Given the description of an element on the screen output the (x, y) to click on. 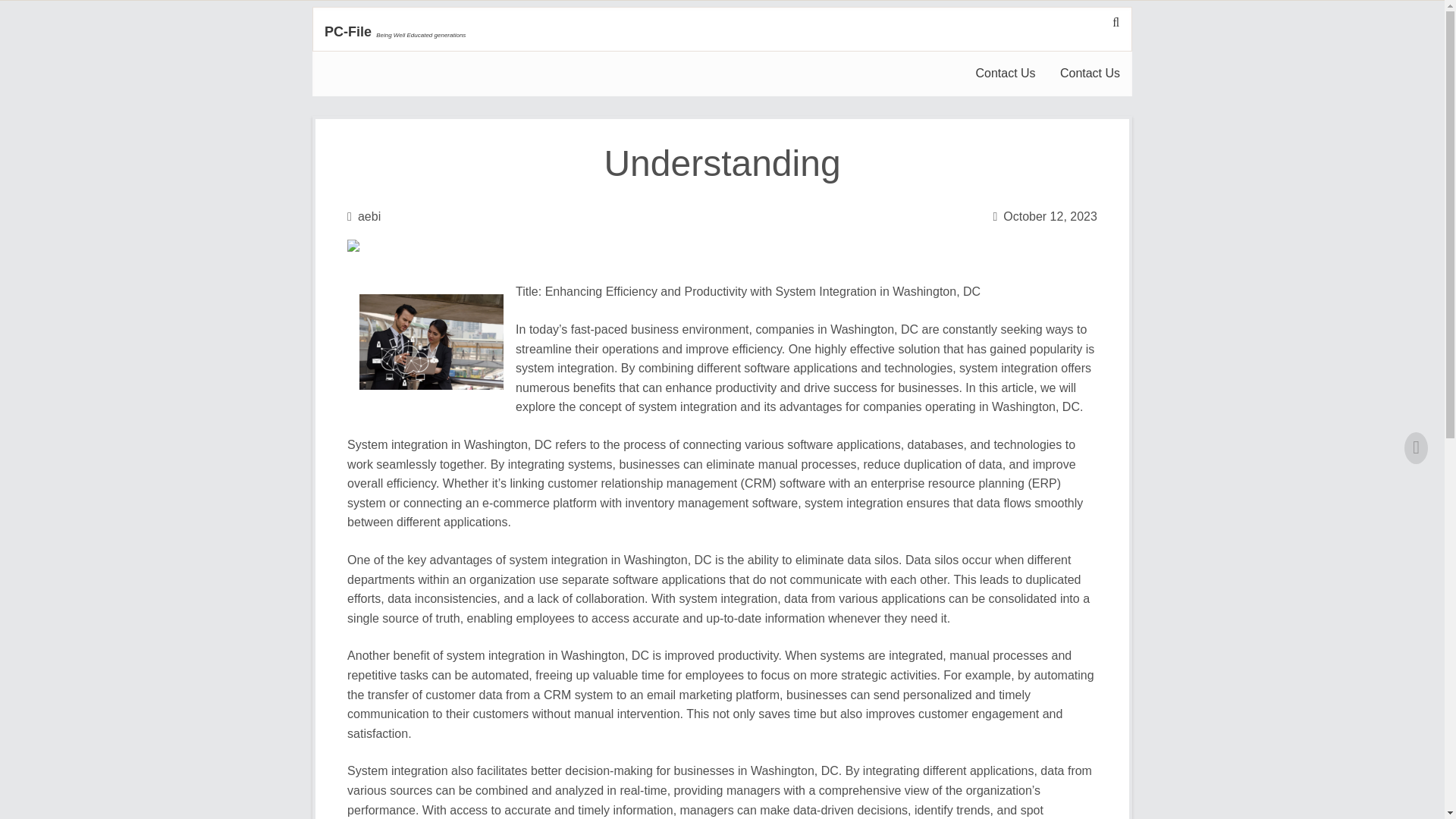
Contact Us (1004, 73)
PC-File (347, 32)
Contact Us (1090, 73)
